Given the description of an element on the screen output the (x, y) to click on. 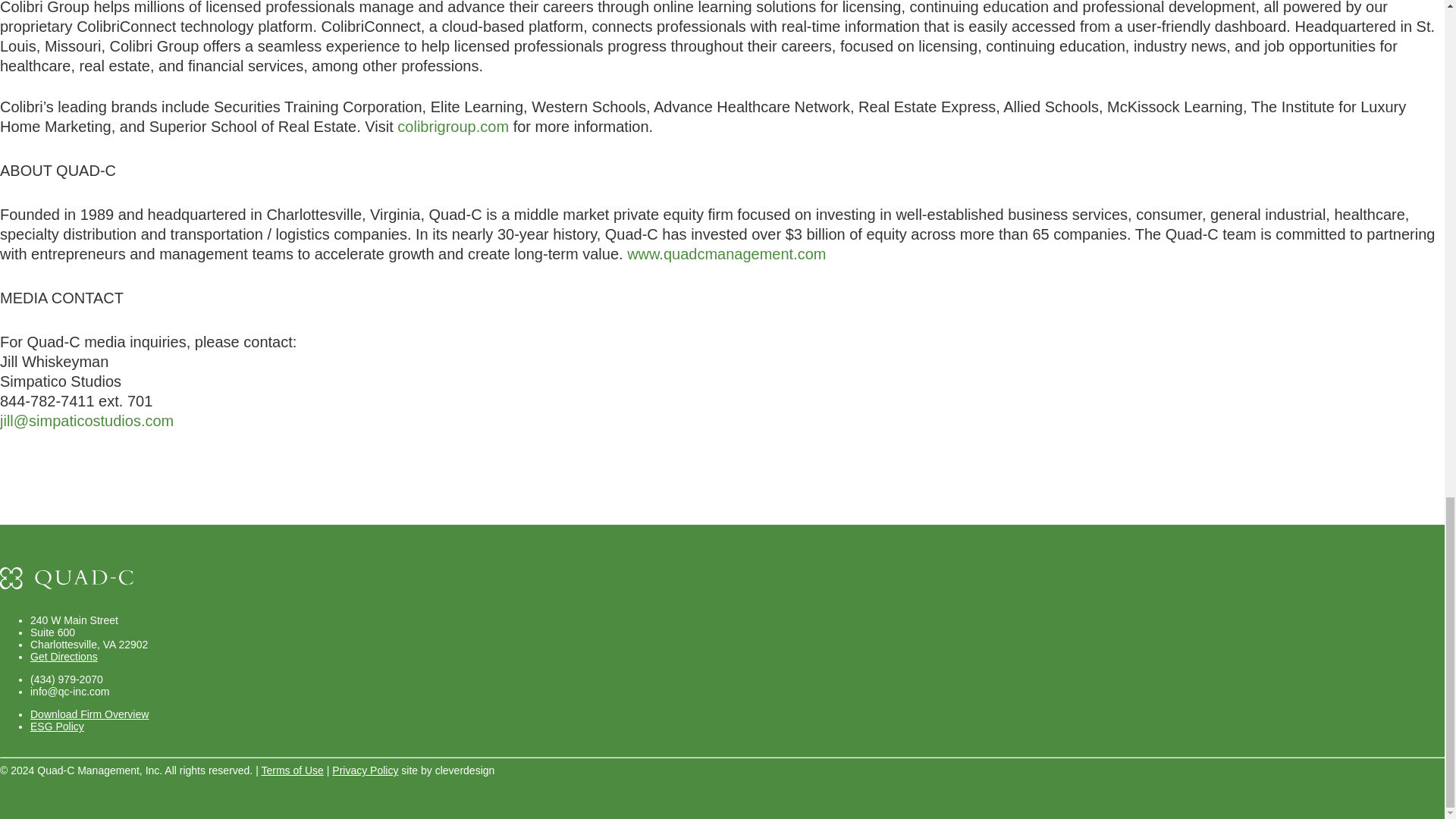
Download Firm Overview (89, 714)
ESG Policy (57, 726)
Get Directions (63, 656)
Privacy Policy (364, 770)
site by cleverdesign (448, 770)
Terms of Use (291, 770)
colibrigroup.com (452, 126)
www.quadcmanagement.com (726, 253)
